Given the description of an element on the screen output the (x, y) to click on. 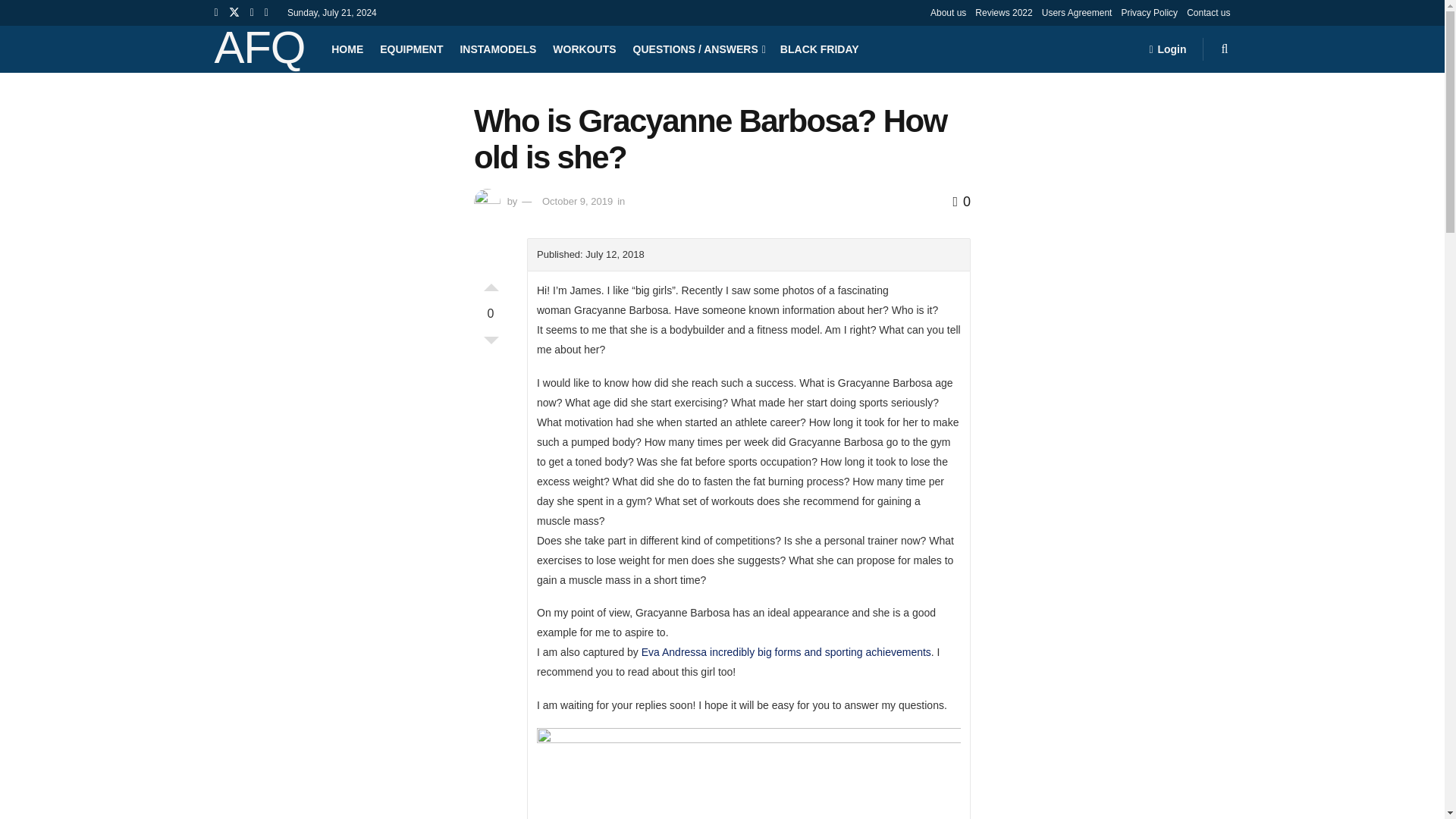
BLACK FRIDAY (819, 48)
INSTAMODELS (497, 48)
EQUIPMENT (411, 48)
Contact us (1208, 12)
October 9, 2019 (576, 201)
Reviews 2022 (1003, 12)
About us (948, 12)
Users Agreement (1077, 12)
0 (961, 201)
Vote Up (491, 283)
Eva Andressa incredibly big forms and sporting achievements (785, 652)
AFQ (259, 49)
Privacy Policy (1149, 12)
Vote Down (491, 344)
WORKOUTS (584, 48)
